Given the description of an element on the screen output the (x, y) to click on. 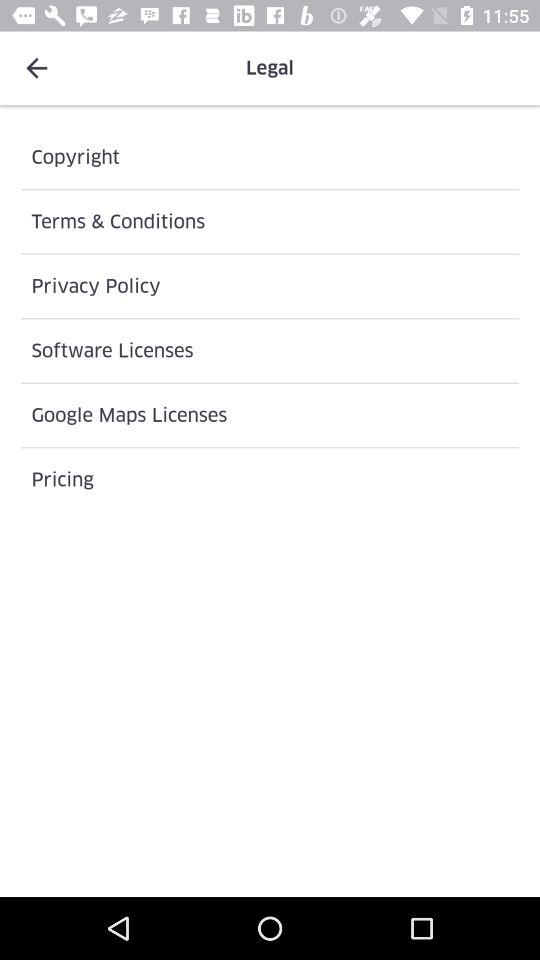
scroll to the copyright (270, 157)
